Given the description of an element on the screen output the (x, y) to click on. 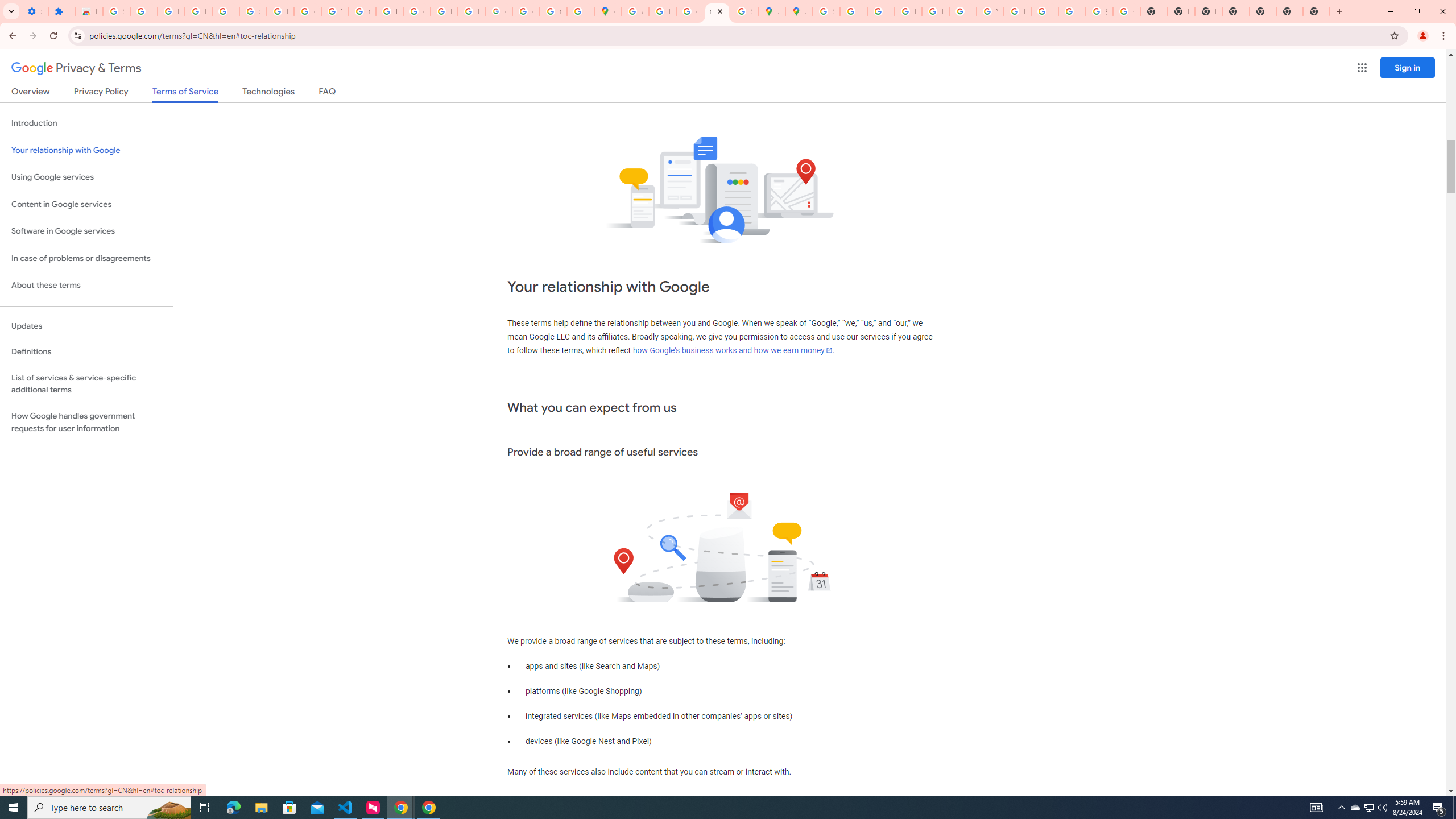
Using Google services (86, 176)
https://scholar.google.com/ (389, 11)
Reviews: Helix Fruit Jump Arcade Game (88, 11)
Safety in Our Products - Google Safety Center (743, 11)
New Tab (1316, 11)
Sign in - Google Accounts (253, 11)
